Given the description of an element on the screen output the (x, y) to click on. 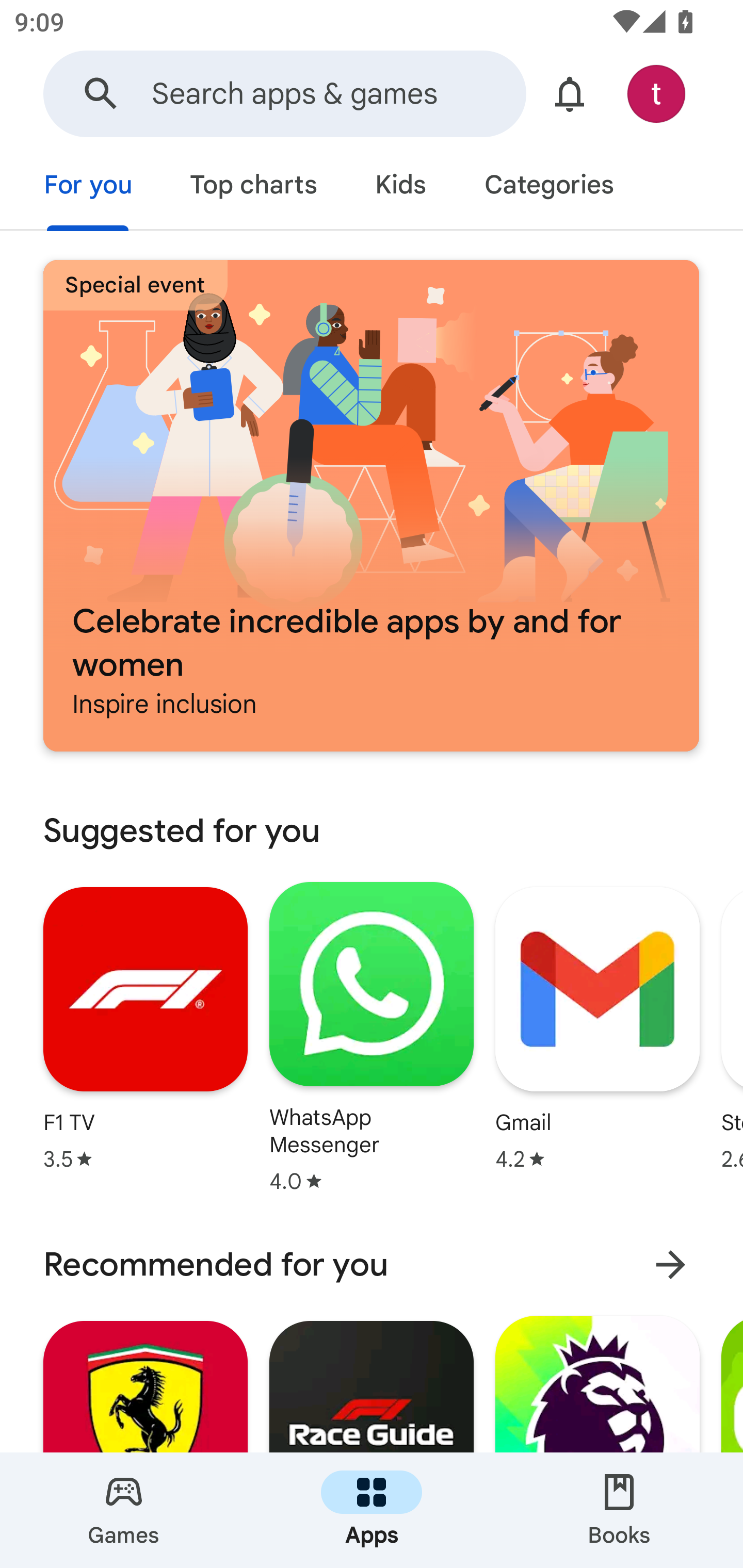
Search Google Play Search apps & games (284, 93)
Search Google Play (100, 93)
Show notifications and offers. (569, 93)
Top charts (253, 187)
Kids (400, 187)
Categories (548, 187)
F1 TV
Star rating: 3.5
 (145, 1028)
WhatsApp Messenger
Star rating: 4.0
 (371, 1037)
Gmail
Star rating: 4.2
 (597, 1028)
More results for Recommended for you (670, 1264)
Games (123, 1509)
Books (619, 1509)
